Given the description of an element on the screen output the (x, y) to click on. 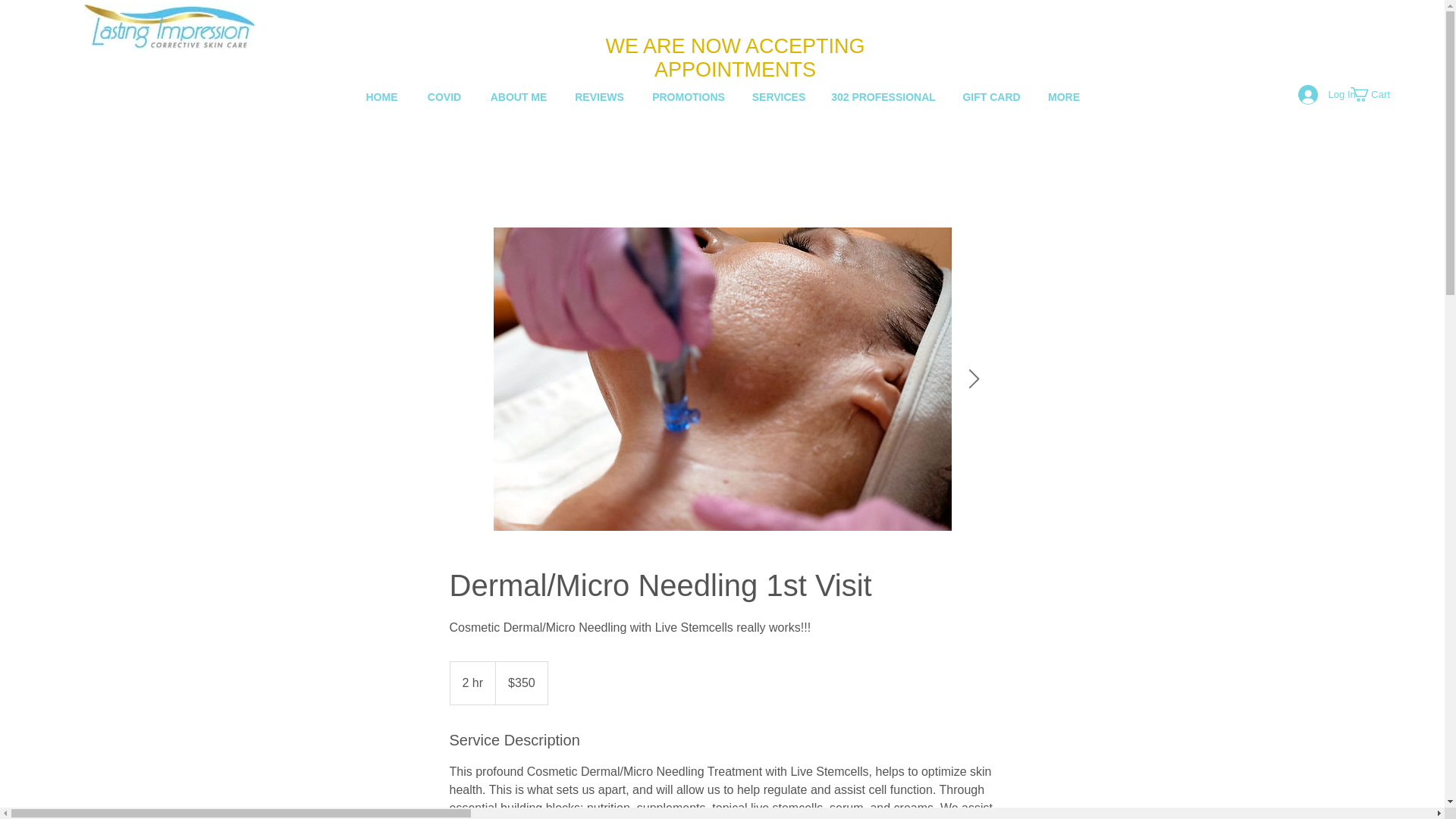
ABOUT ME (519, 96)
Log In (1318, 94)
REVIEWS (598, 96)
PROMOTIONS (688, 96)
Cart (1379, 93)
GIFT CARD (991, 96)
Cart (1379, 93)
HOME (381, 96)
302 PROFESSIONAL (882, 96)
COVID (444, 96)
SERVICES (778, 96)
